Given the description of an element on the screen output the (x, y) to click on. 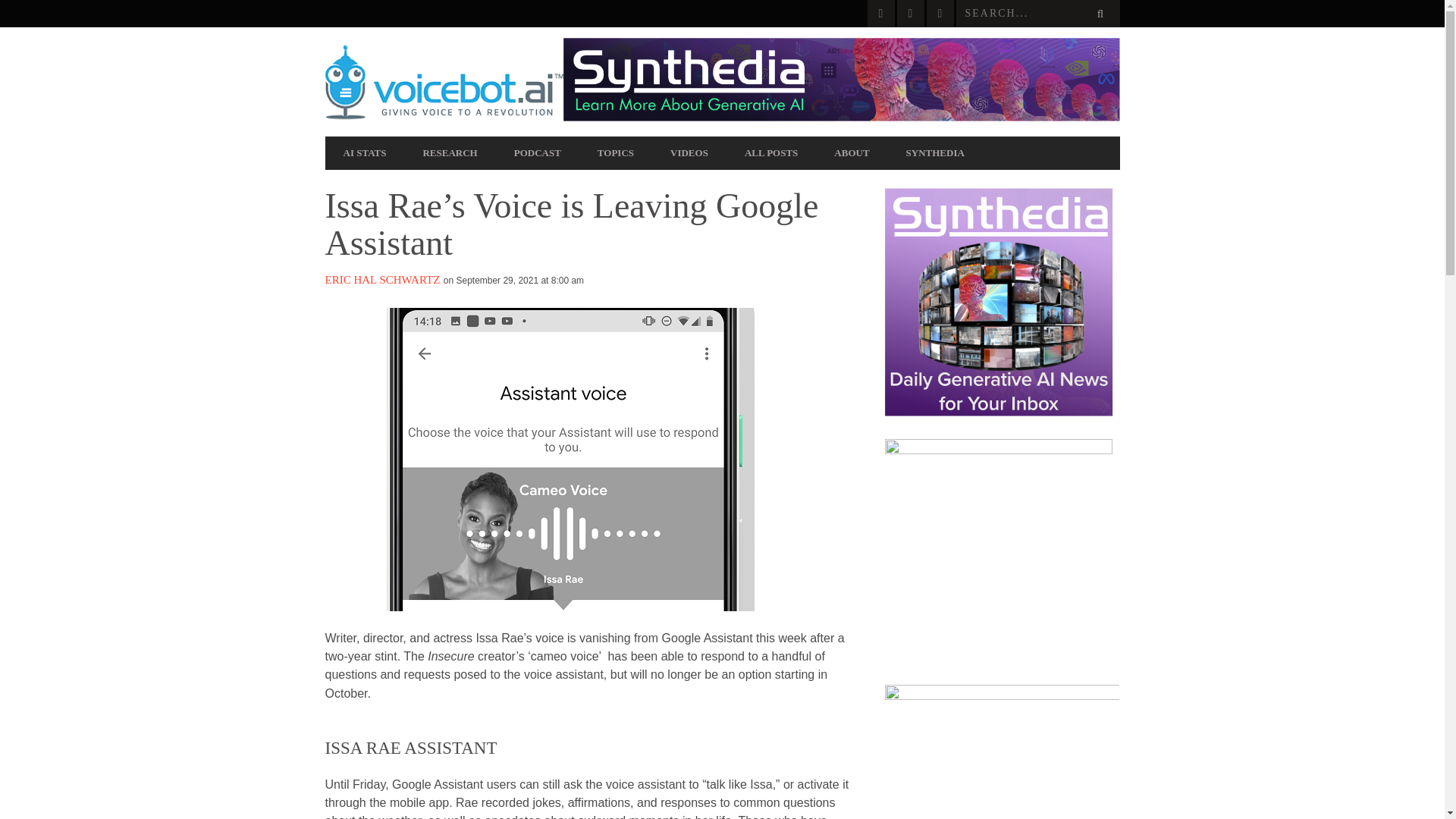
Posts by Eric Hal Schwartz (381, 279)
Voicebot.ai (443, 81)
